Given the description of an element on the screen output the (x, y) to click on. 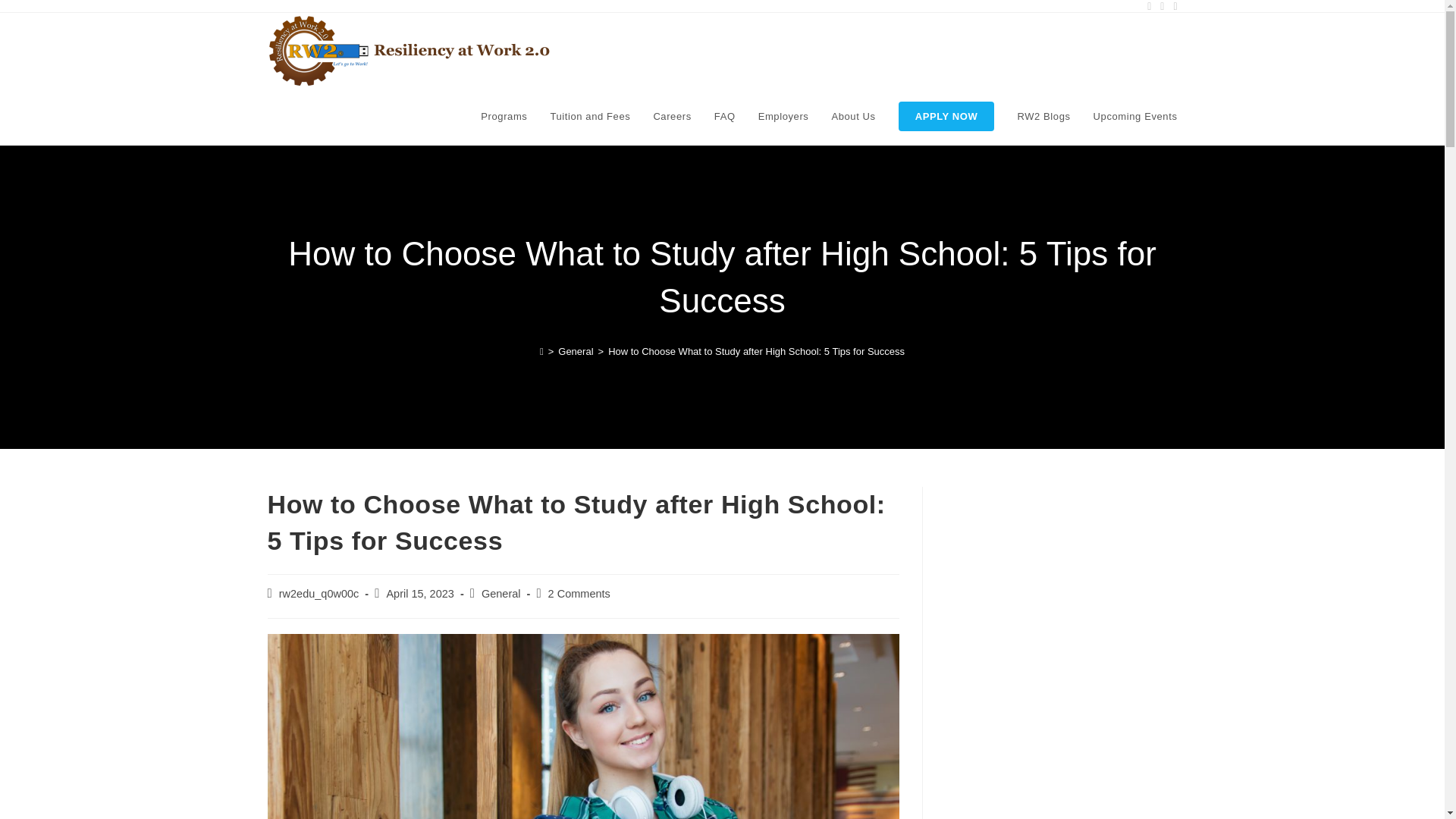
Employers (783, 116)
2 Comments (579, 593)
Careers (671, 116)
General (501, 593)
Upcoming Events (1135, 116)
APPLY NOW (946, 116)
General (574, 351)
Tuition and Fees (590, 116)
About Us (852, 116)
